Given the description of an element on the screen output the (x, y) to click on. 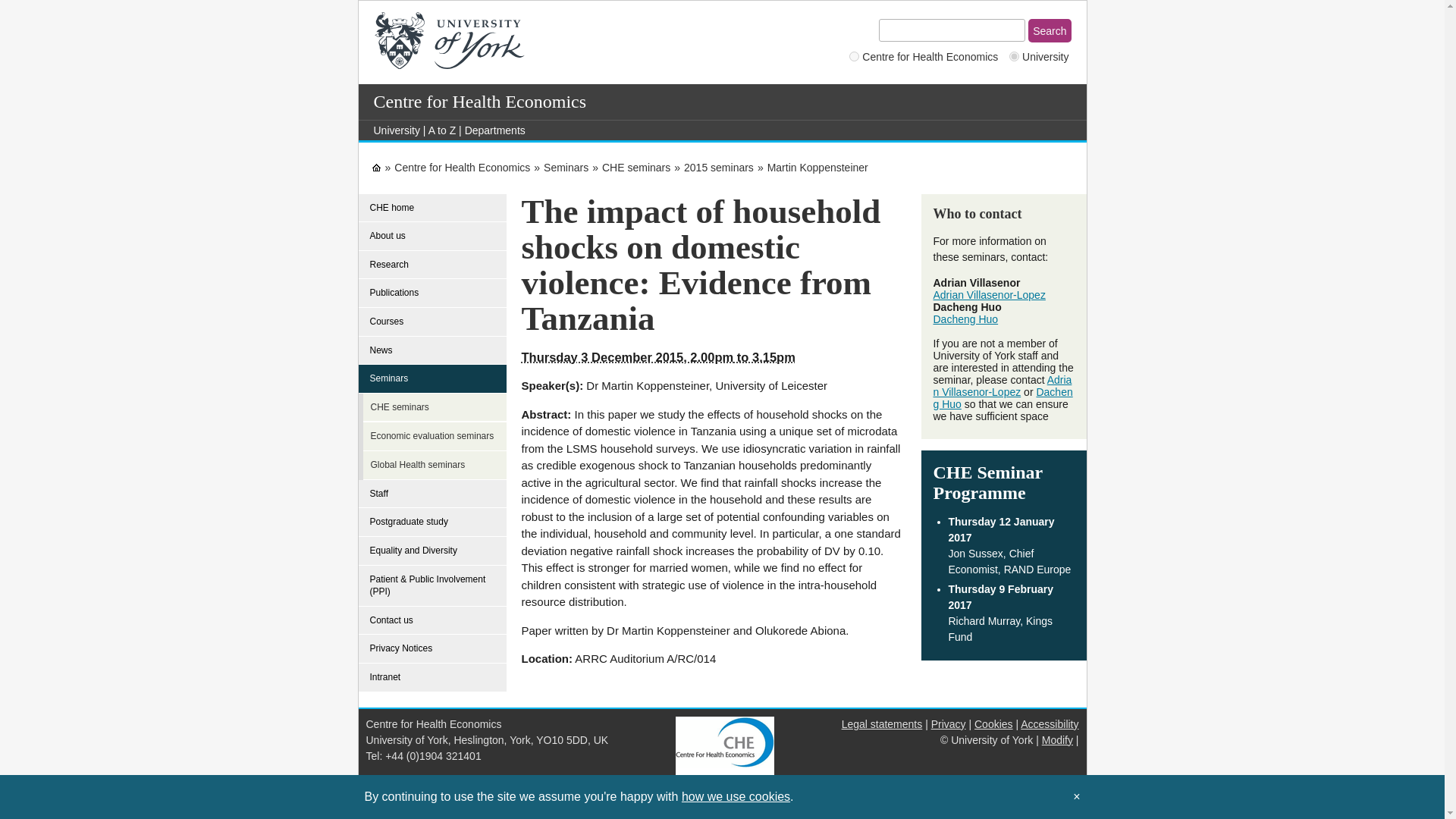
Equality and Diversity (432, 551)
A to Z (442, 130)
CHE seminars (635, 167)
Seminars (432, 378)
Adrian Villasenor-Lopez (1002, 385)
Centre for Health Economics (461, 167)
Modify (1057, 739)
Privacy (948, 724)
University homepage (395, 130)
Seminars (565, 167)
University homepage (376, 167)
Accessibility (1049, 724)
Search (1048, 30)
Contact us (432, 620)
CHE home (432, 208)
